Given the description of an element on the screen output the (x, y) to click on. 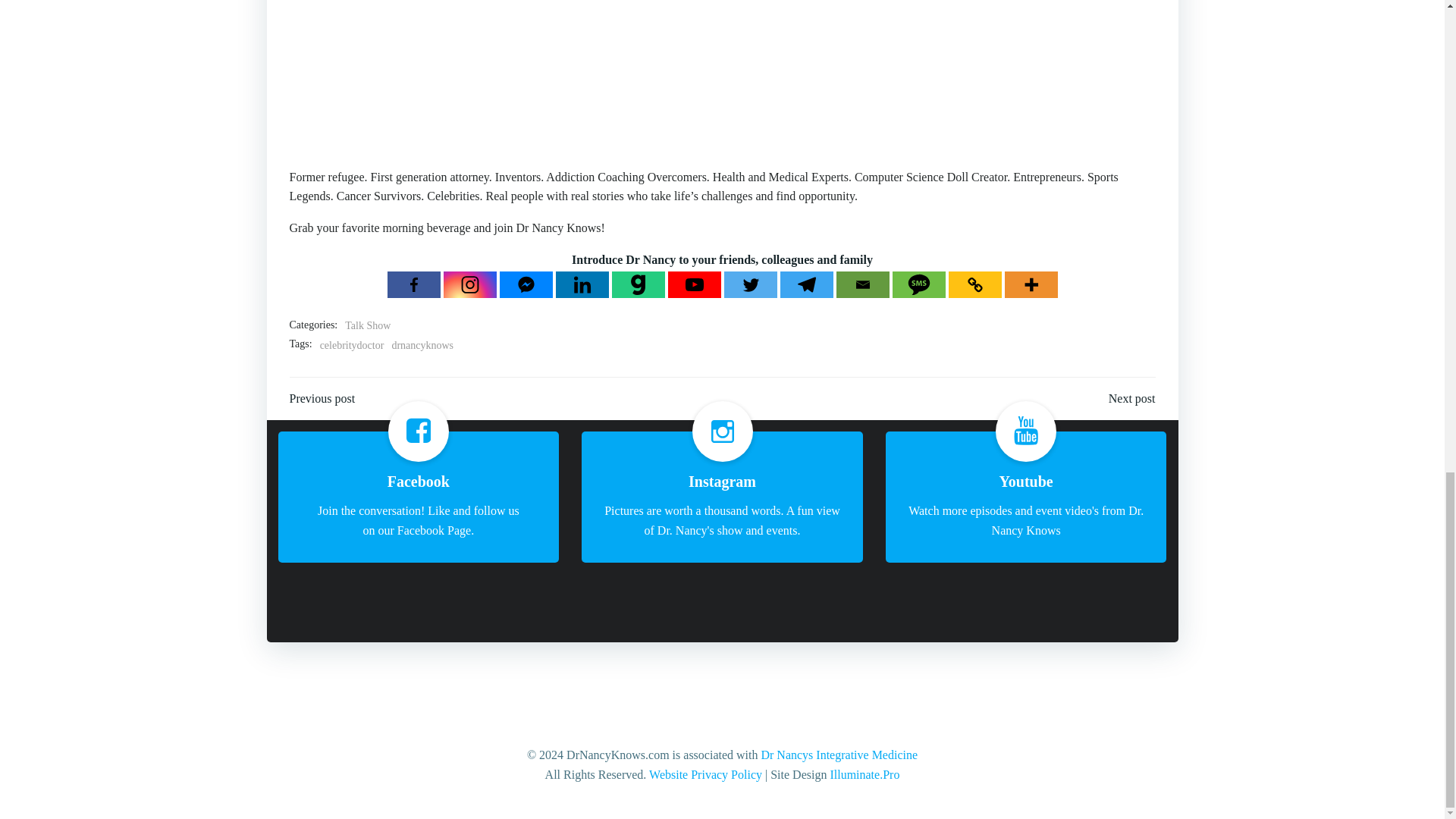
Youtube (693, 284)
Gab (637, 284)
Linkedin (581, 284)
Email (861, 284)
Next post (1132, 398)
Facebook (413, 284)
More (1030, 284)
Instagram (469, 284)
Twitter (749, 284)
Previous post (322, 398)
